Given the description of an element on the screen output the (x, y) to click on. 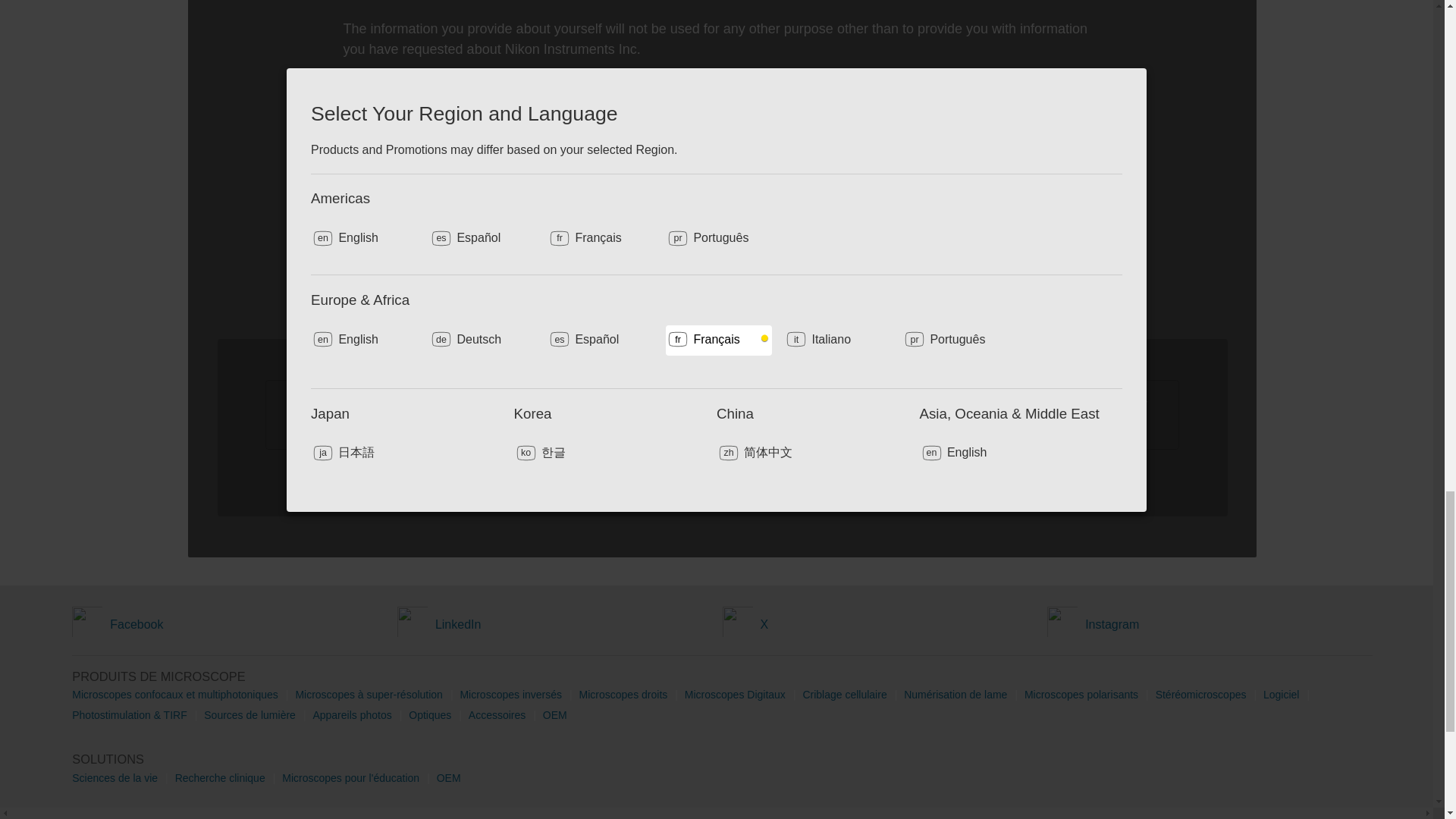
Last Name (528, 144)
Phone (914, 290)
Country (914, 94)
Email (528, 193)
Verify email (528, 242)
submit (722, 475)
true (302, 403)
First Name (528, 95)
